Given the description of an element on the screen output the (x, y) to click on. 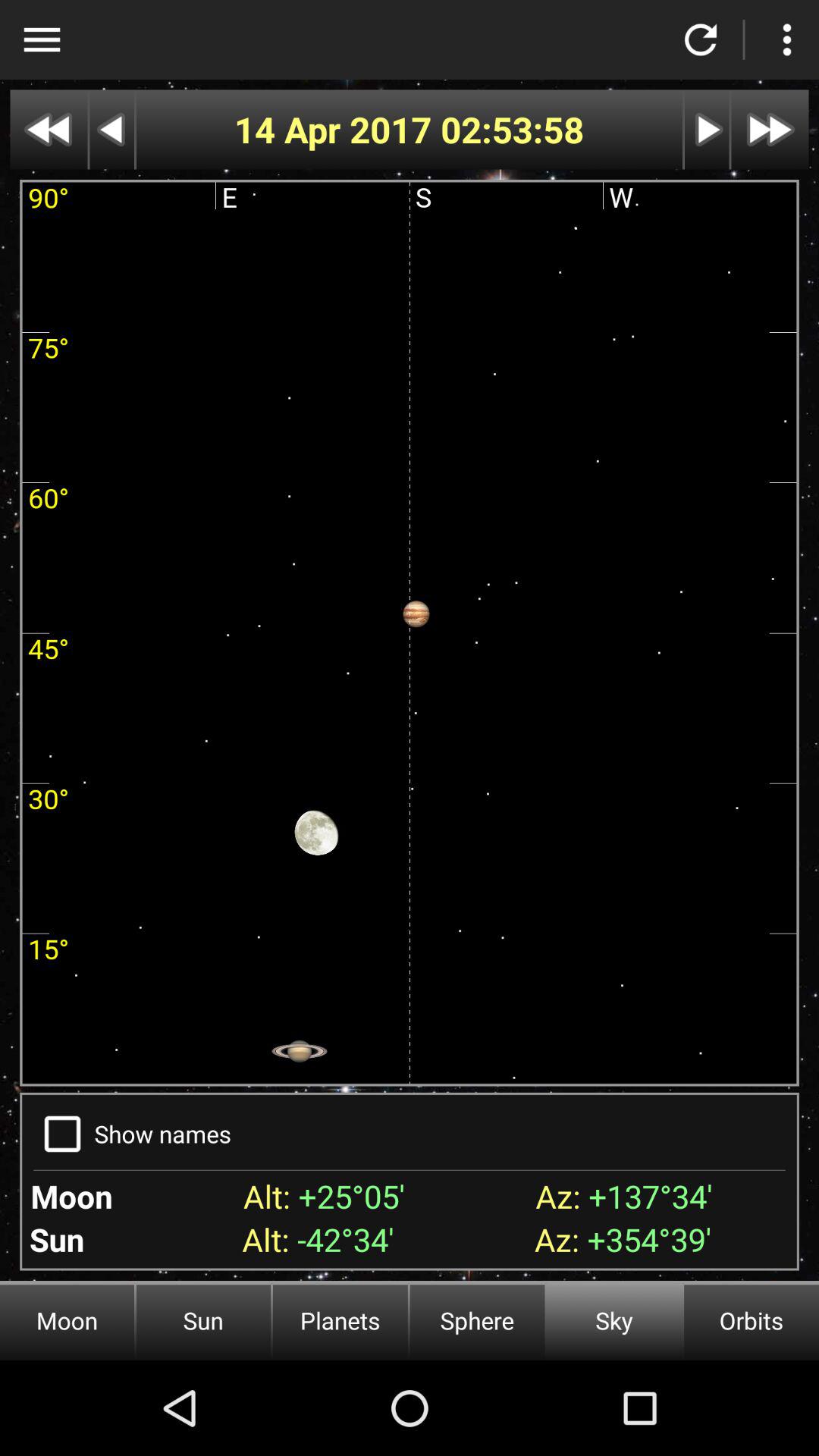
go back to the beginning (48, 129)
